Given the description of an element on the screen output the (x, y) to click on. 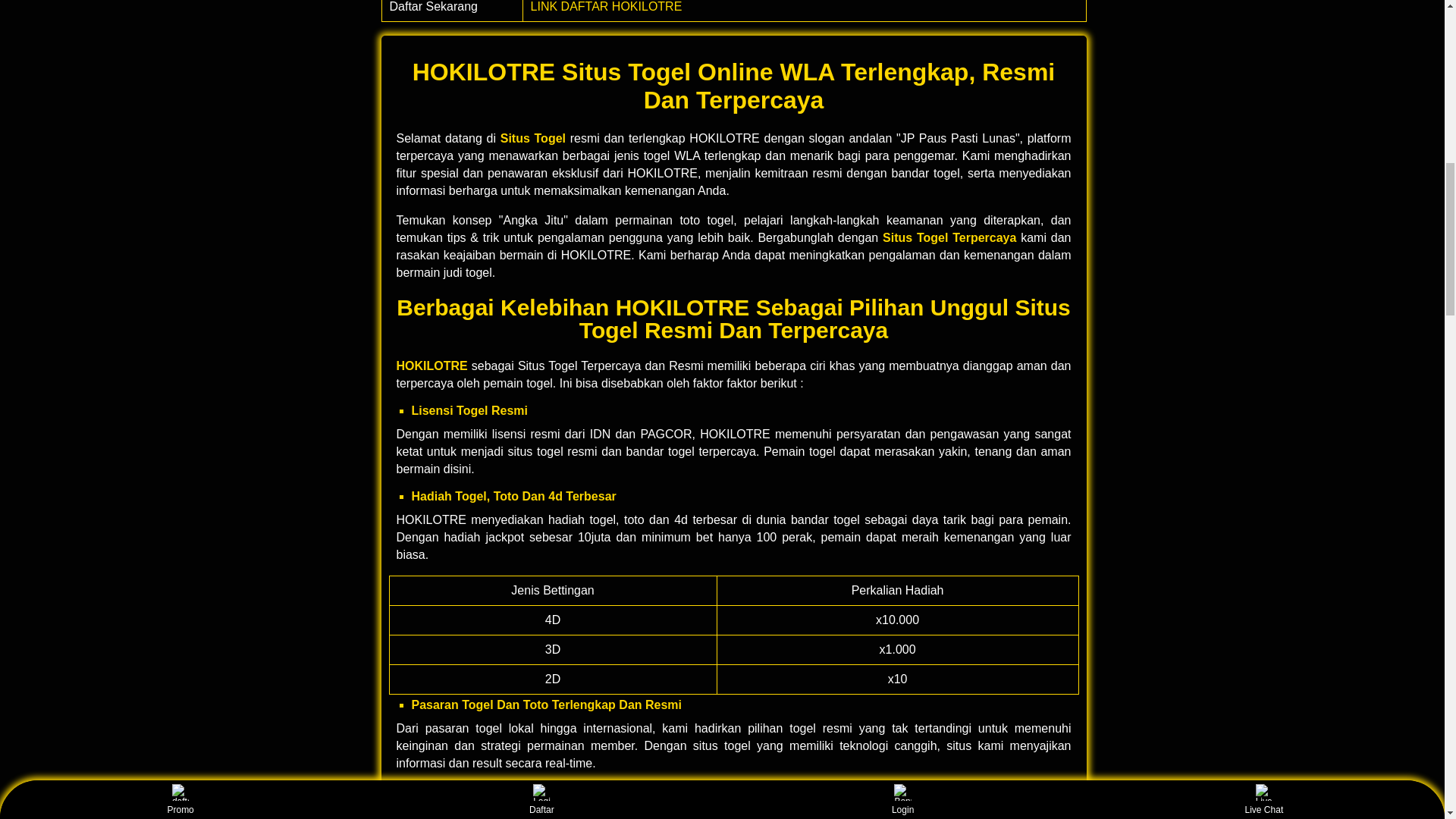
LINK DAFTAR HOKILOTRE (606, 6)
LINK DAFTAR HOKILOTRE (606, 6)
HOKILOTRE (431, 365)
Situs Togel Terpercaya (949, 237)
Situs Togel (533, 137)
